Given the description of an element on the screen output the (x, y) to click on. 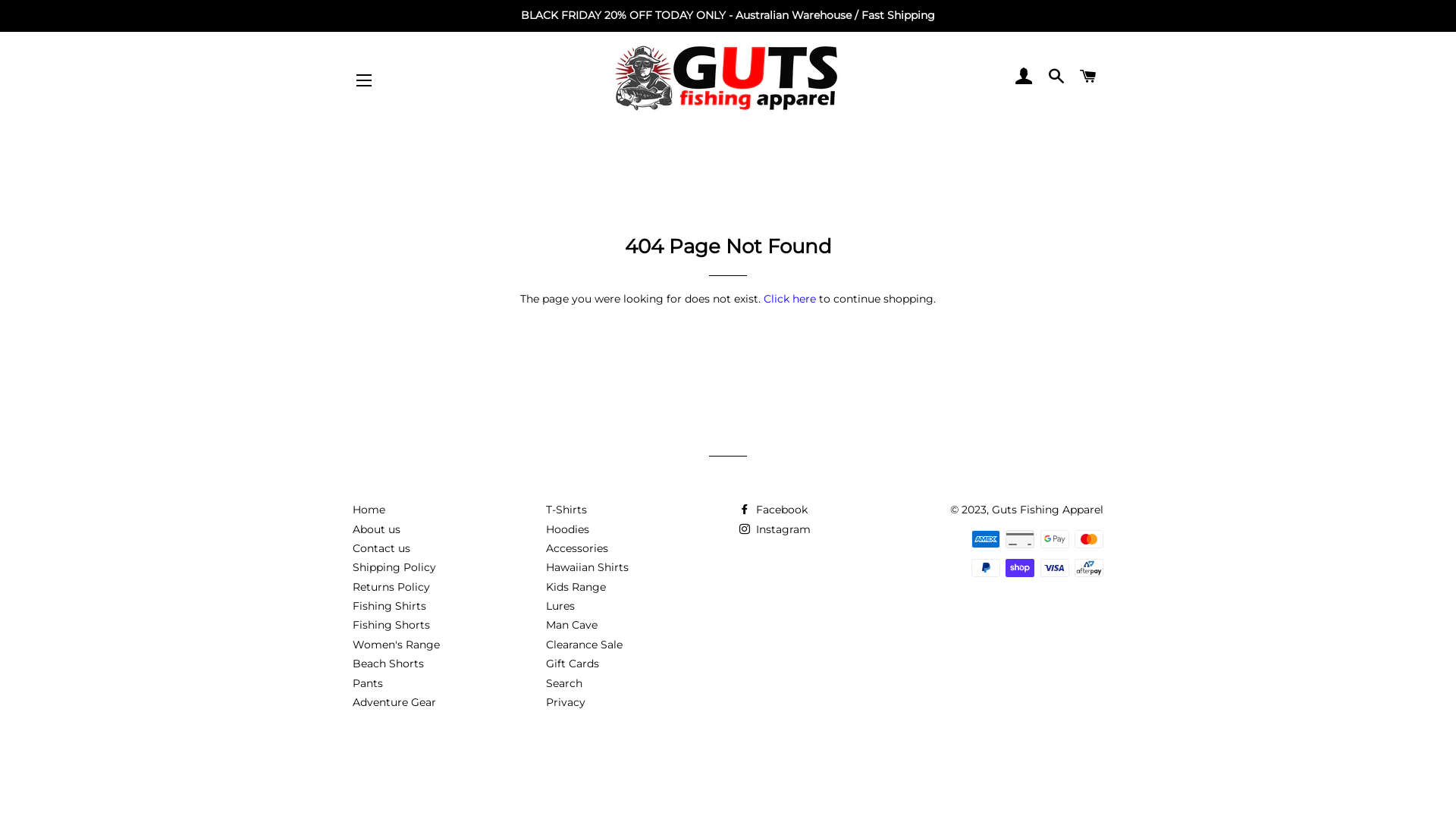
LOG IN Element type: text (1024, 77)
CART Element type: text (1088, 77)
Hoodies Element type: text (567, 529)
SITE NAVIGATION Element type: text (363, 80)
Privacy Element type: text (565, 702)
Fishing Shirts Element type: text (389, 605)
Adventure Gear Element type: text (394, 702)
Guts Fishing Apparel Element type: text (1047, 509)
Beach Shorts Element type: text (387, 663)
Lures Element type: text (560, 605)
Contact us Element type: text (381, 548)
Fishing Shorts Element type: text (390, 624)
Clearance Sale Element type: text (584, 644)
Women's Range Element type: text (395, 644)
Click here Element type: text (789, 298)
Home Element type: text (368, 509)
Instagram Element type: text (774, 529)
Gift Cards Element type: text (572, 663)
Hawaiian Shirts Element type: text (587, 567)
SEARCH Element type: text (1055, 77)
T-Shirts Element type: text (566, 509)
Afterpay Element type: text (1088, 573)
Man Cave Element type: text (571, 624)
About us Element type: text (376, 529)
Facebook Element type: text (773, 509)
Accessories Element type: text (577, 548)
Returns Policy Element type: text (390, 586)
Kids Range Element type: text (575, 586)
Shipping Policy Element type: text (394, 567)
Search Element type: text (564, 683)
Pants Element type: text (367, 683)
